Given the description of an element on the screen output the (x, y) to click on. 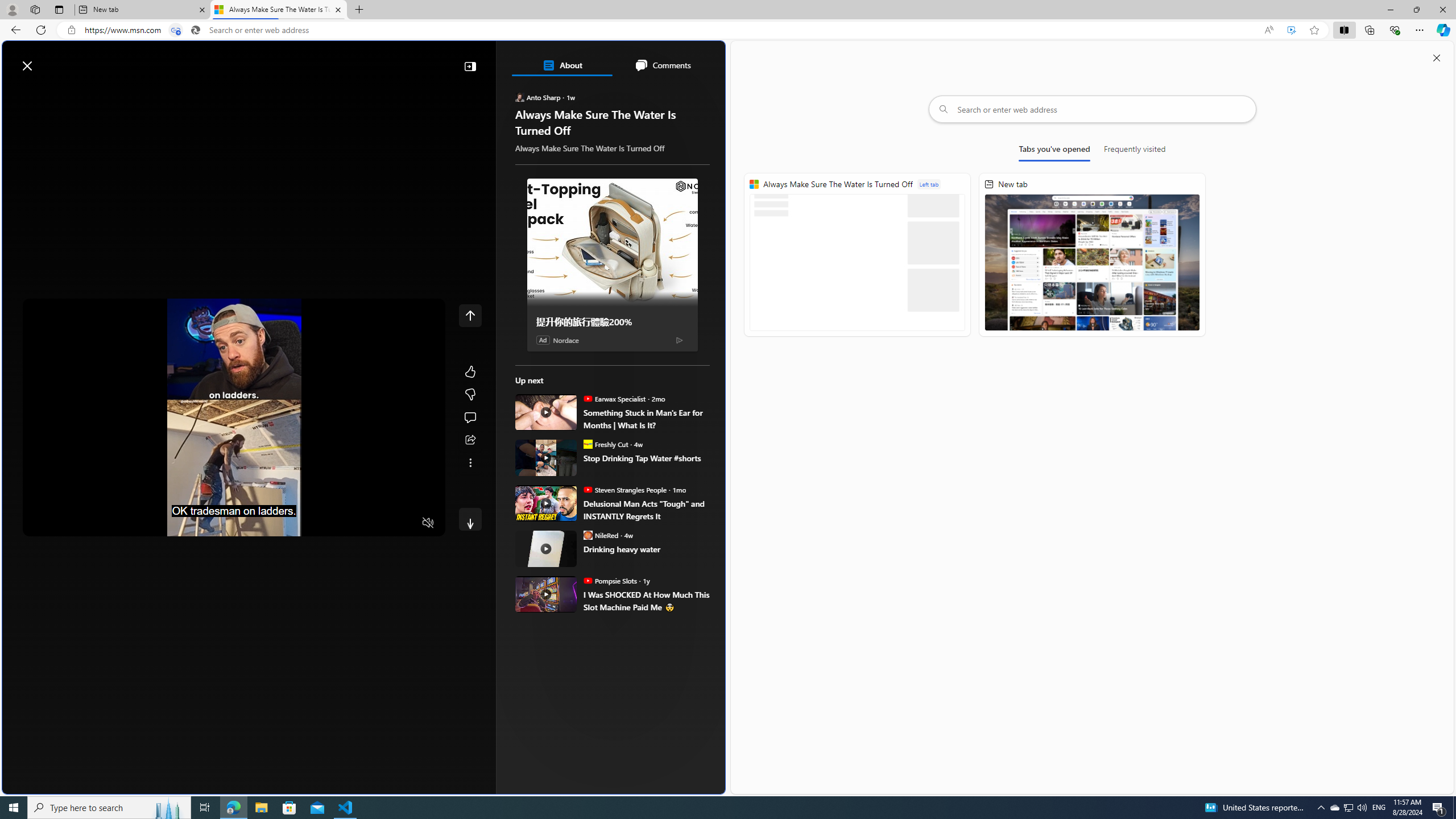
Unmute (427, 523)
Frequently visited (1134, 151)
Refresh (40, 29)
Share this story (469, 440)
Drinking heavy water (646, 548)
Close tab (338, 9)
Feedback (681, 784)
Something Stuck in Man's Ear for Months | What Is It? (646, 418)
Fullscreen (405, 523)
Start the conversation (469, 417)
Skip to content (49, 59)
Delusional Man Acts "Tough" and INSTANTLY Regrets It (545, 502)
